Given the description of an element on the screen output the (x, y) to click on. 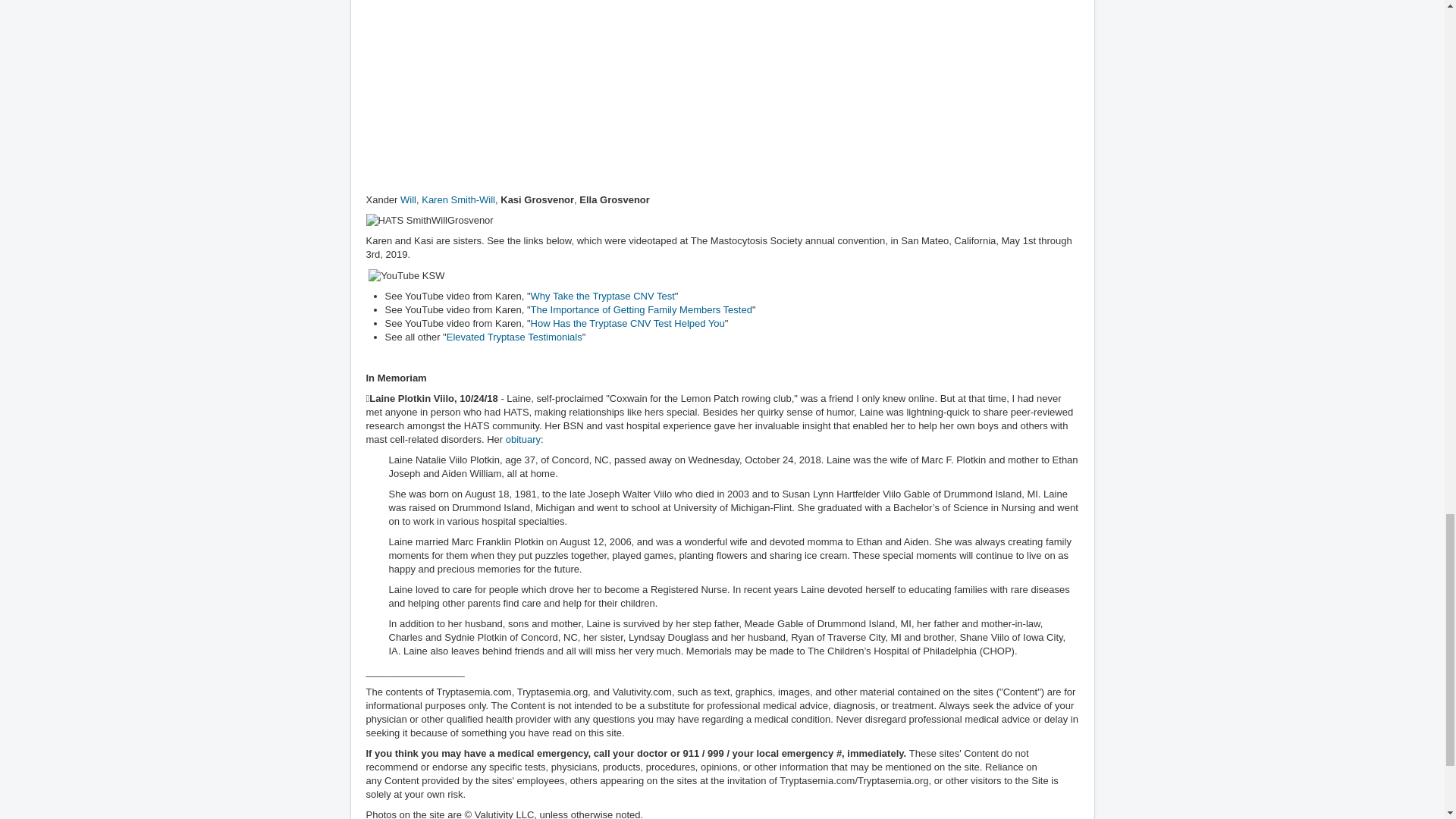
Elevated Tryptase Testimonials (514, 337)
 Karen Smith-Will (457, 199)
 Will (406, 199)
How Has the Tryptase CNV Test Helped You (628, 323)
Why Take the Tryptase CNV Test (603, 296)
obituary (522, 439)
The Importance of Getting Family Members Tested (641, 309)
